Given the description of an element on the screen output the (x, y) to click on. 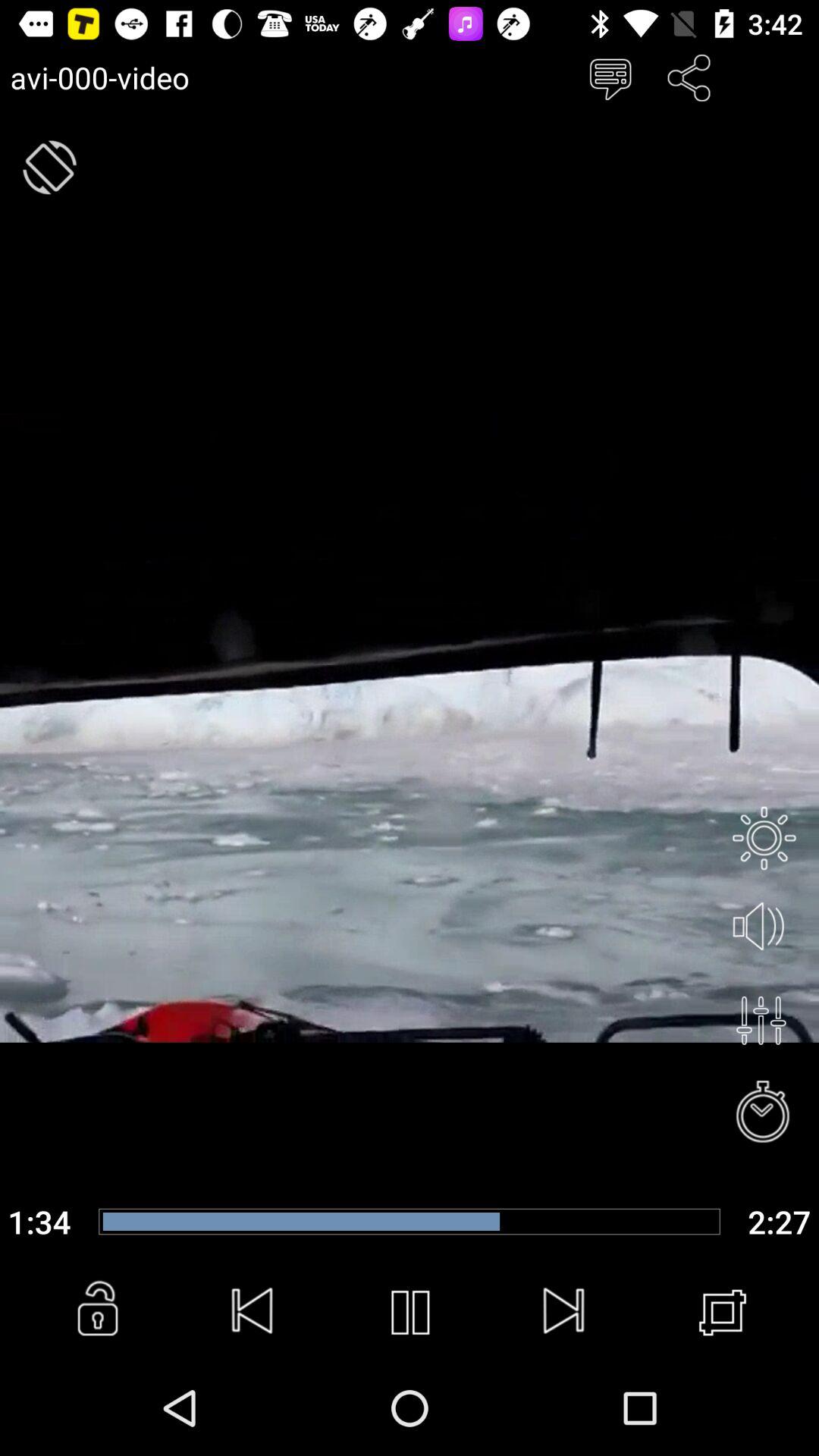
previous video (253, 1312)
